Given the description of an element on the screen output the (x, y) to click on. 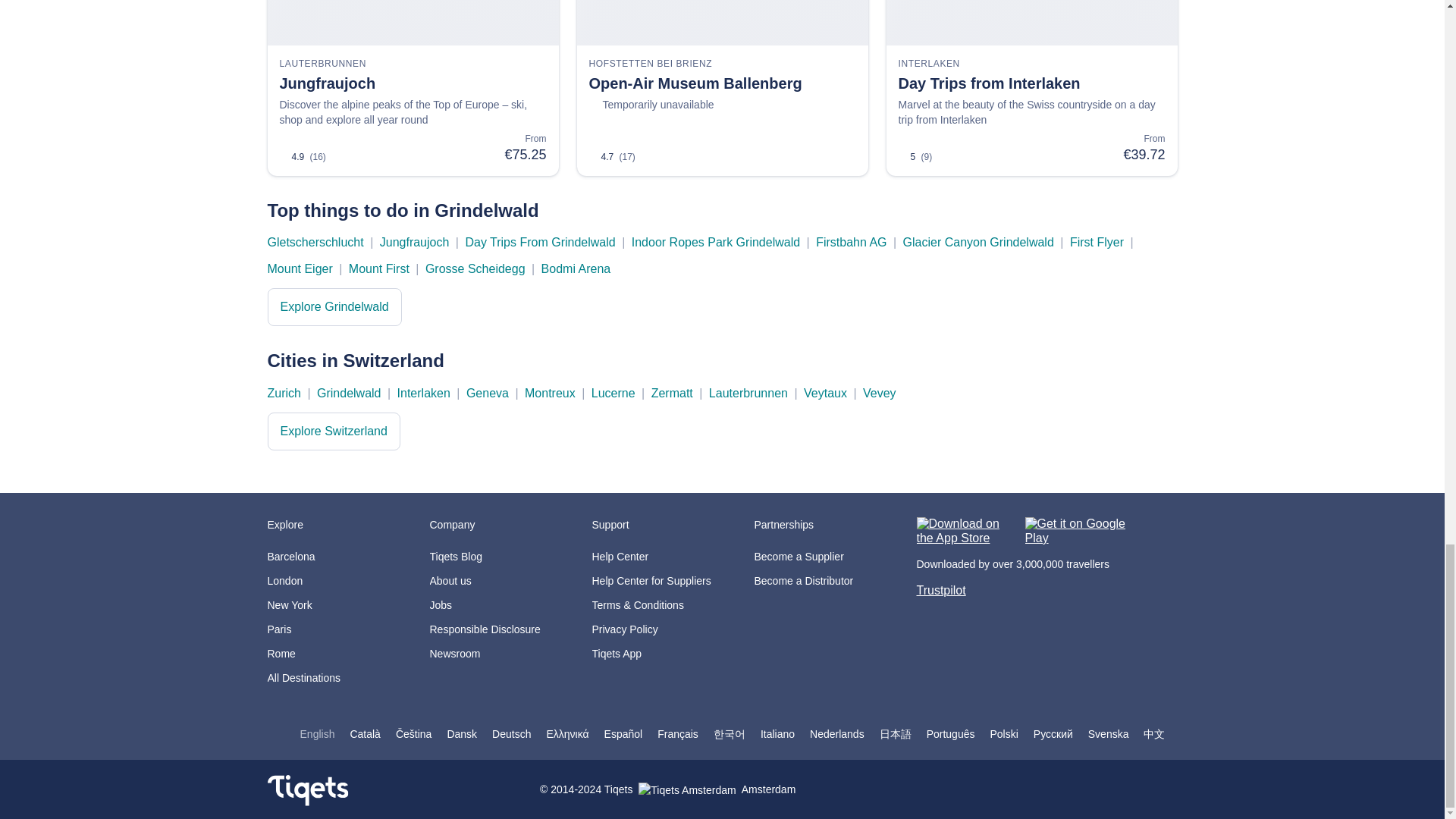
Jungfraujoch (412, 83)
Jungfraujoch (414, 241)
Open-Air Museum Ballenberg (722, 83)
Gletscherschlucht (314, 241)
Day Trips from Interlaken (1031, 83)
